Given the description of an element on the screen output the (x, y) to click on. 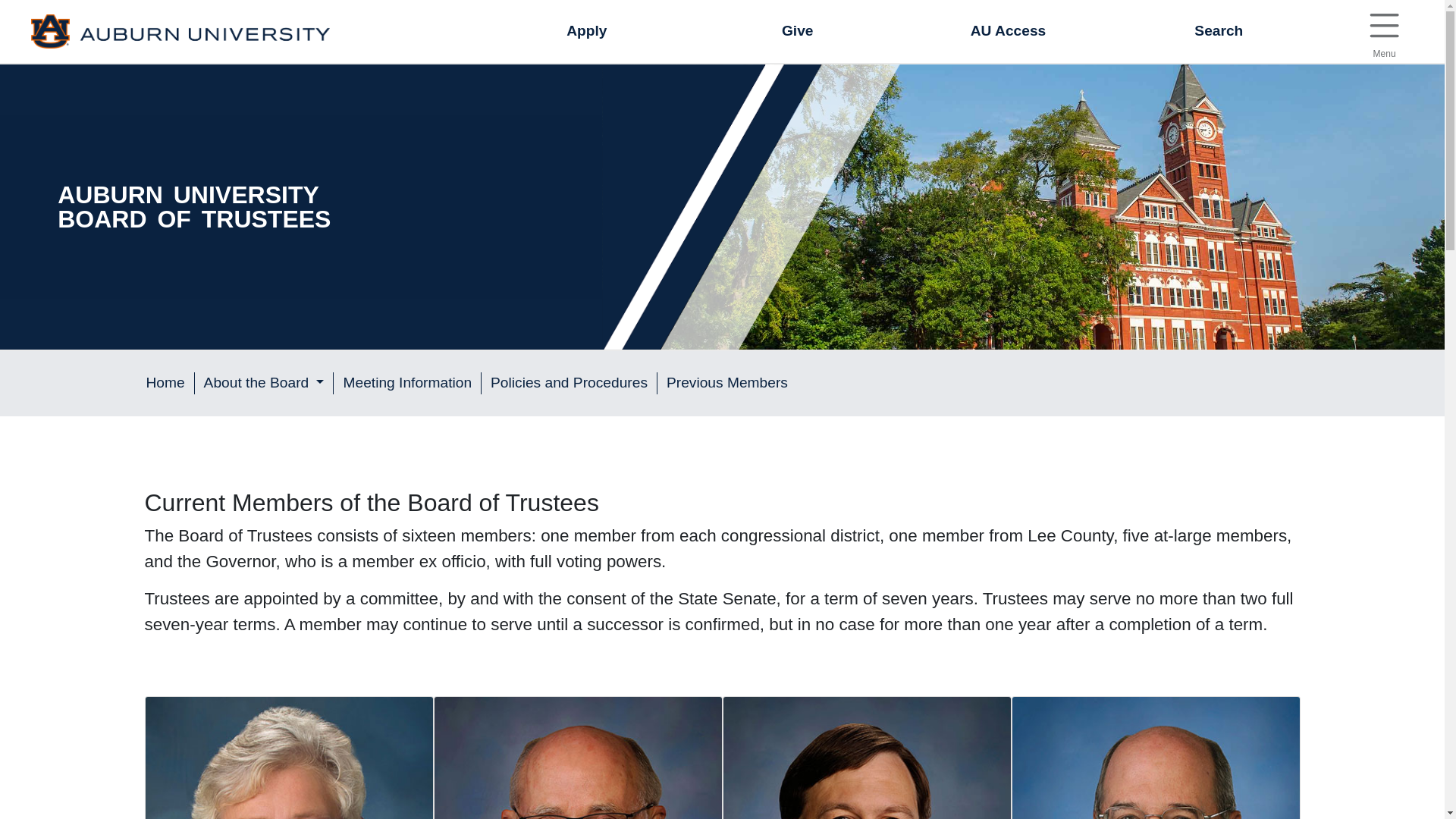
Menu button (1383, 32)
AU Access (1383, 25)
Search (1007, 31)
Apply (1218, 31)
Give (587, 31)
